Given the description of an element on the screen output the (x, y) to click on. 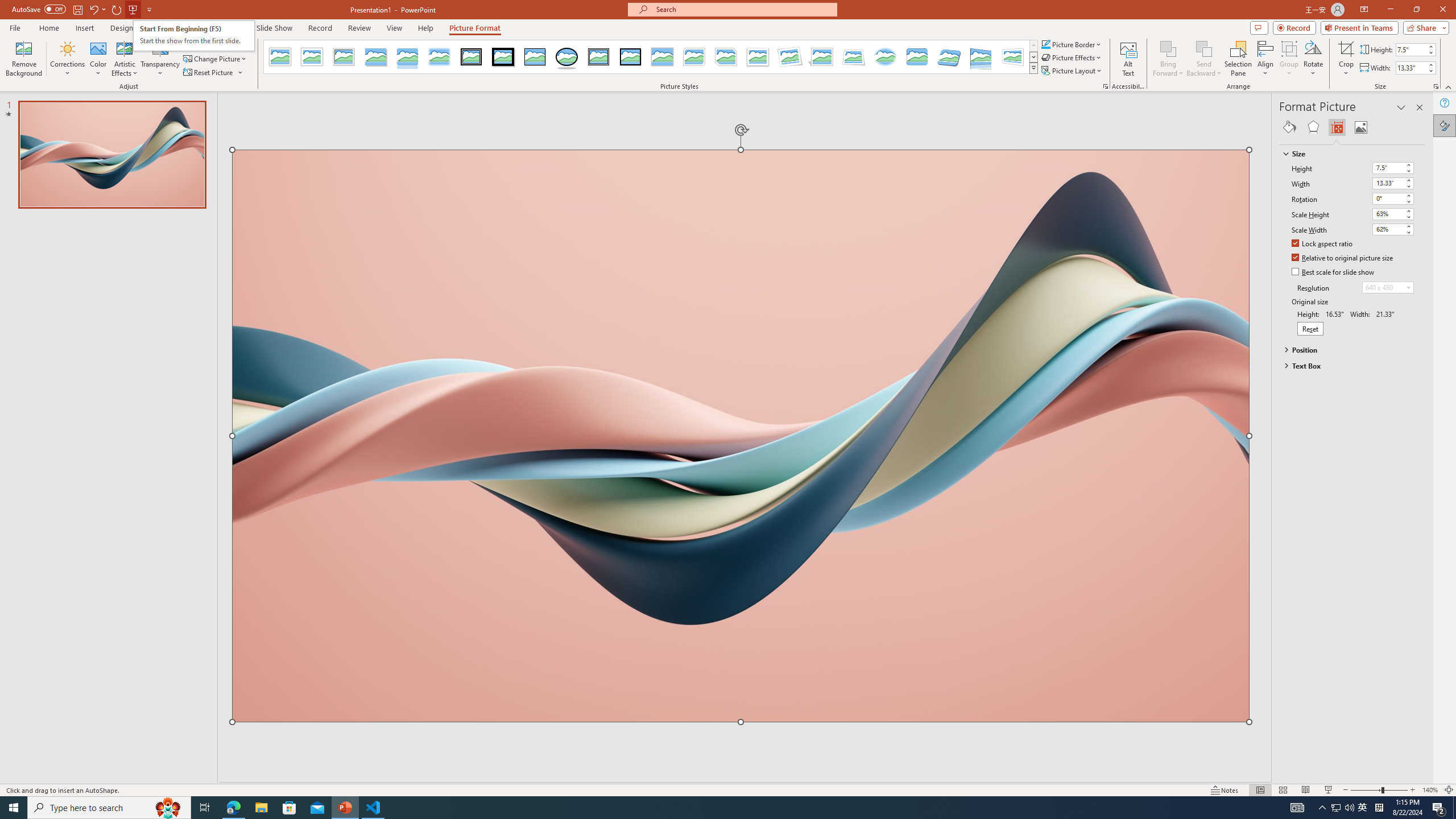
Center Shadow Rectangle (662, 56)
Alt Text (1128, 58)
Height (1388, 167)
Effects (1313, 126)
Moderate Frame, White (758, 56)
More Options (1345, 68)
Transparency (160, 58)
Scale Width (1393, 229)
Position (1347, 349)
Quick Styles (1033, 67)
Slide Show (273, 28)
File Tab (15, 27)
Bring Forward (1168, 48)
Picture Border Blue, Accent 1 (1045, 44)
